Given the description of an element on the screen output the (x, y) to click on. 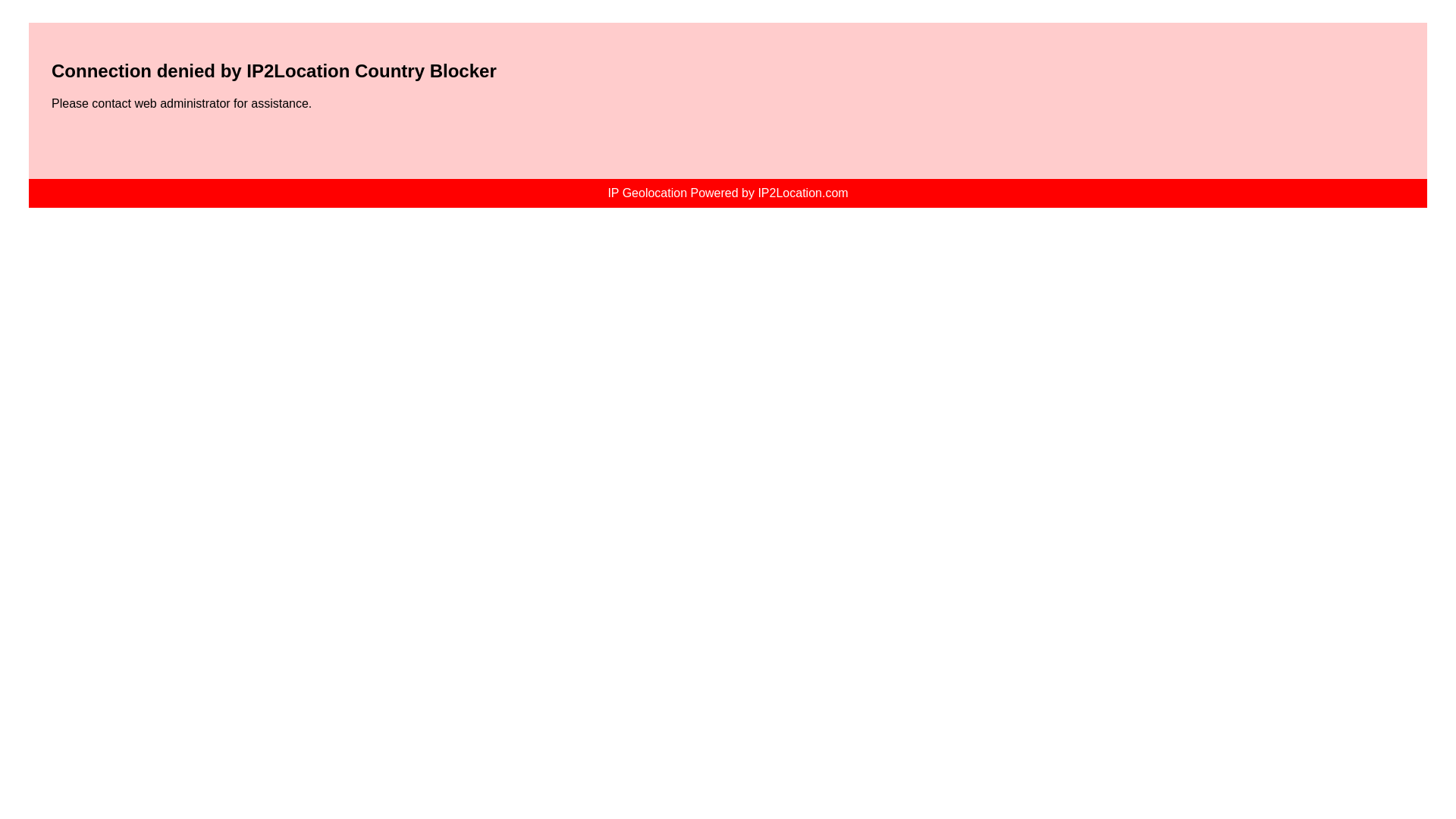
IP Geolocation Powered by IP2Location.com (727, 192)
